Given the description of an element on the screen output the (x, y) to click on. 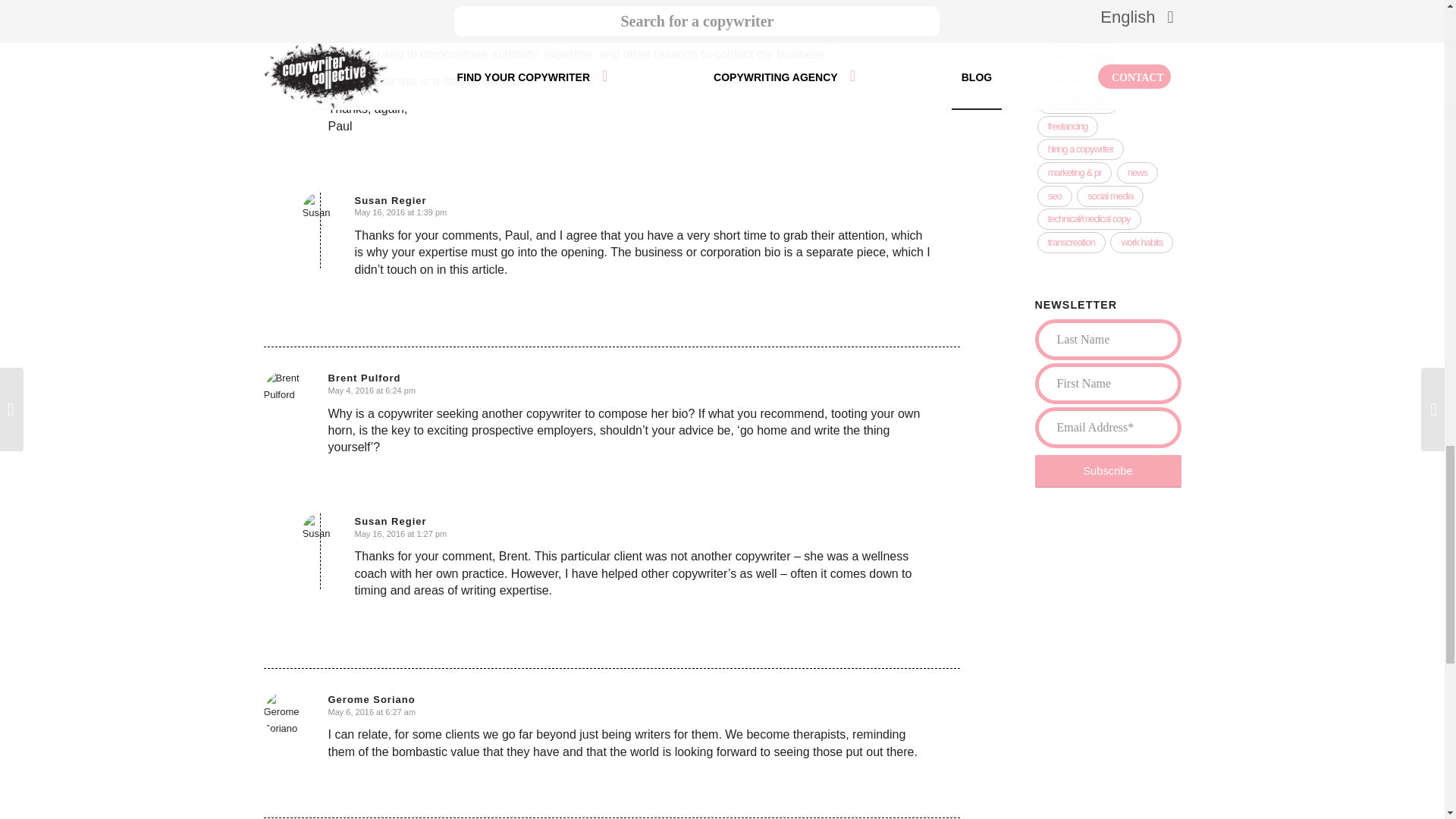
Subscribe (1106, 471)
May 16, 2016 at 1:39 pm (400, 212)
May 4, 2016 at 6:24 pm (370, 389)
May 6, 2016 at 6:27 am (370, 711)
May 16, 2016 at 1:27 pm (400, 533)
